Given the description of an element on the screen output the (x, y) to click on. 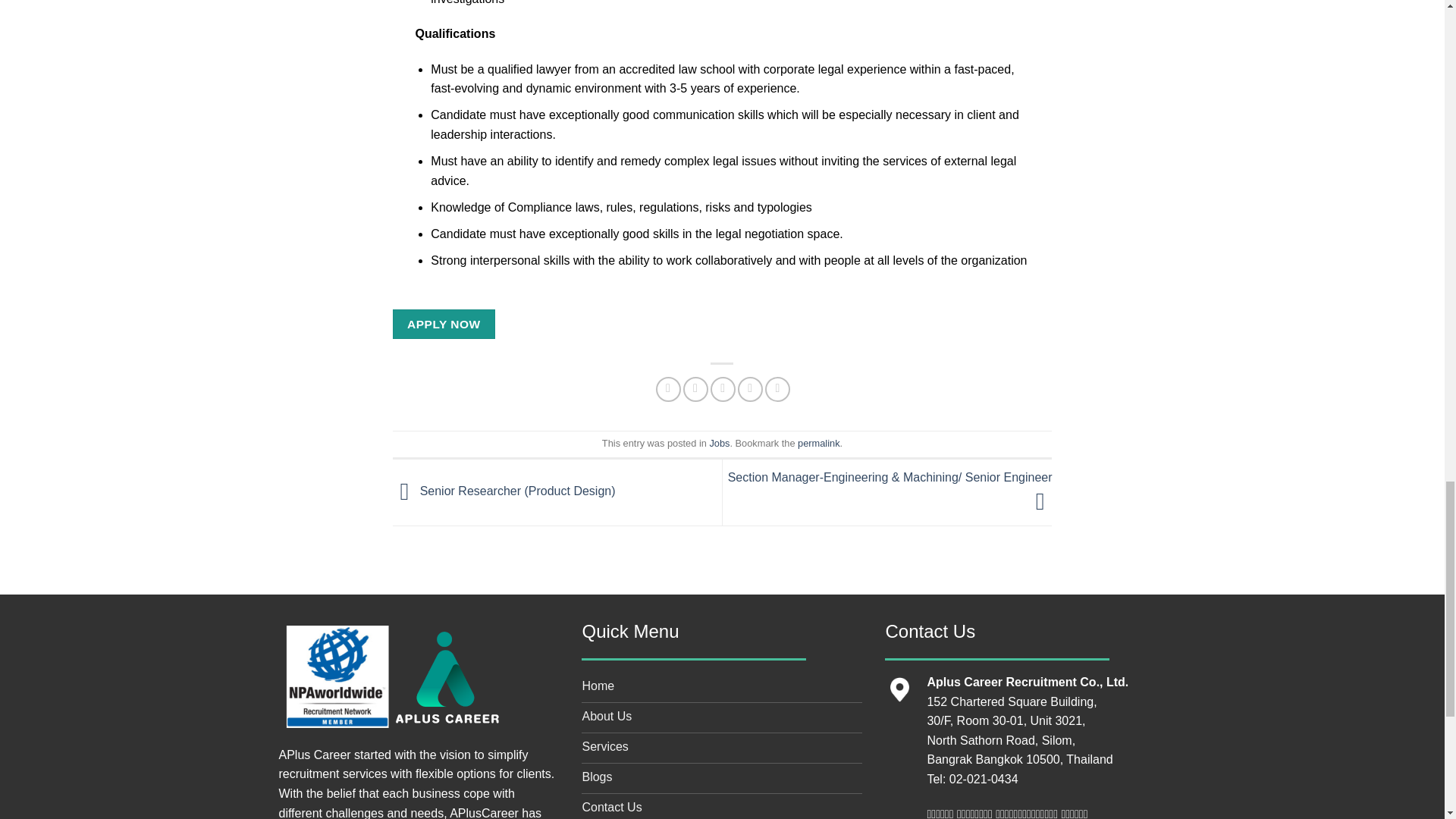
Services (720, 748)
Contact Us (720, 806)
Share on LinkedIn (777, 389)
Blogs (720, 778)
Home (720, 687)
About Us (720, 717)
permalink (818, 442)
Pin on Pinterest (750, 389)
Permalink to Internal Lawyer (818, 442)
Share on Facebook (668, 389)
Jobs (719, 442)
Email to a Friend (722, 389)
Share on Twitter (694, 389)
APPLY NOW (444, 324)
